Given the description of an element on the screen output the (x, y) to click on. 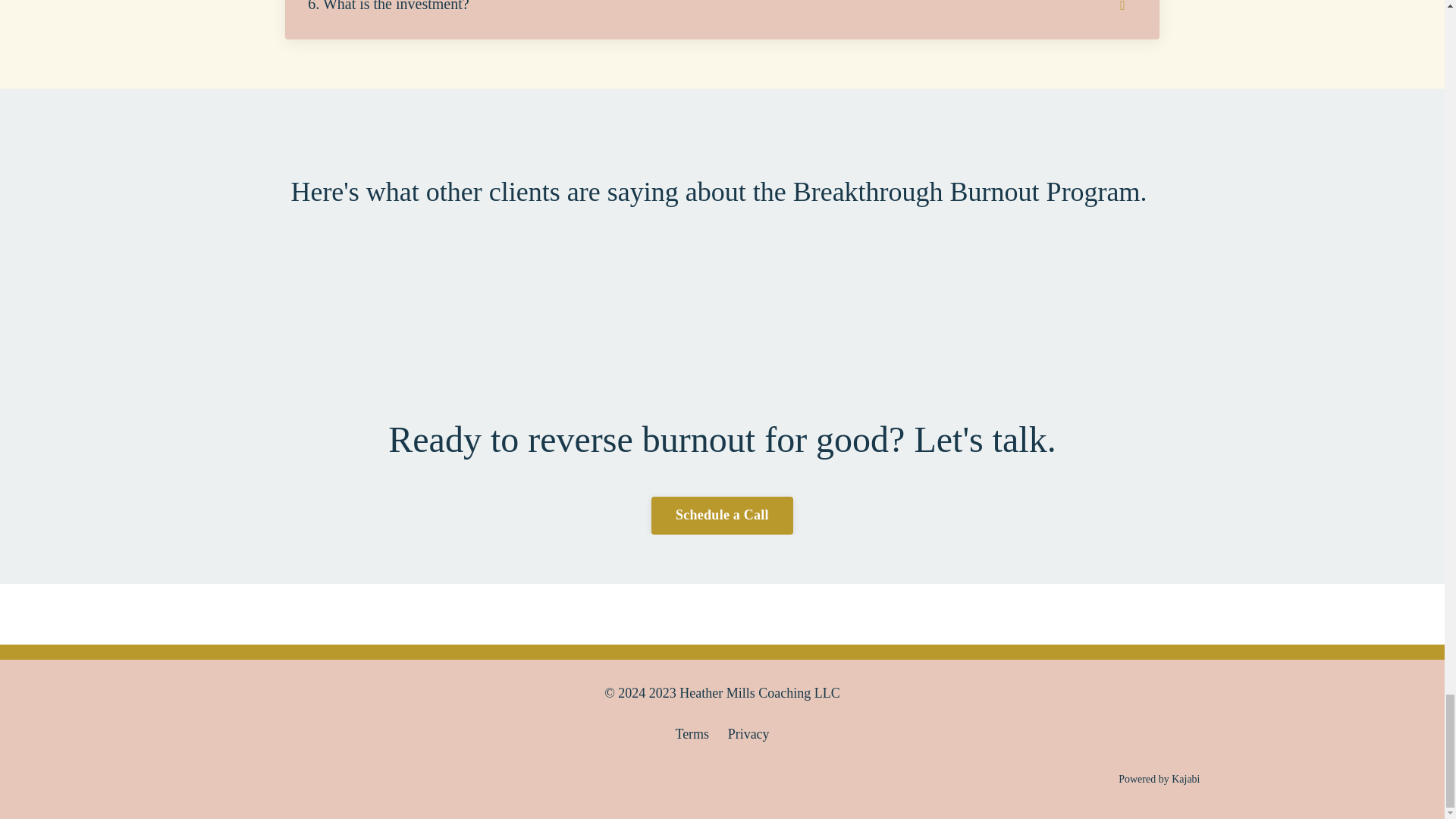
Powered by Kajabi (1158, 778)
Privacy (749, 734)
Terms (692, 734)
Schedule a Call (721, 515)
